Given the description of an element on the screen output the (x, y) to click on. 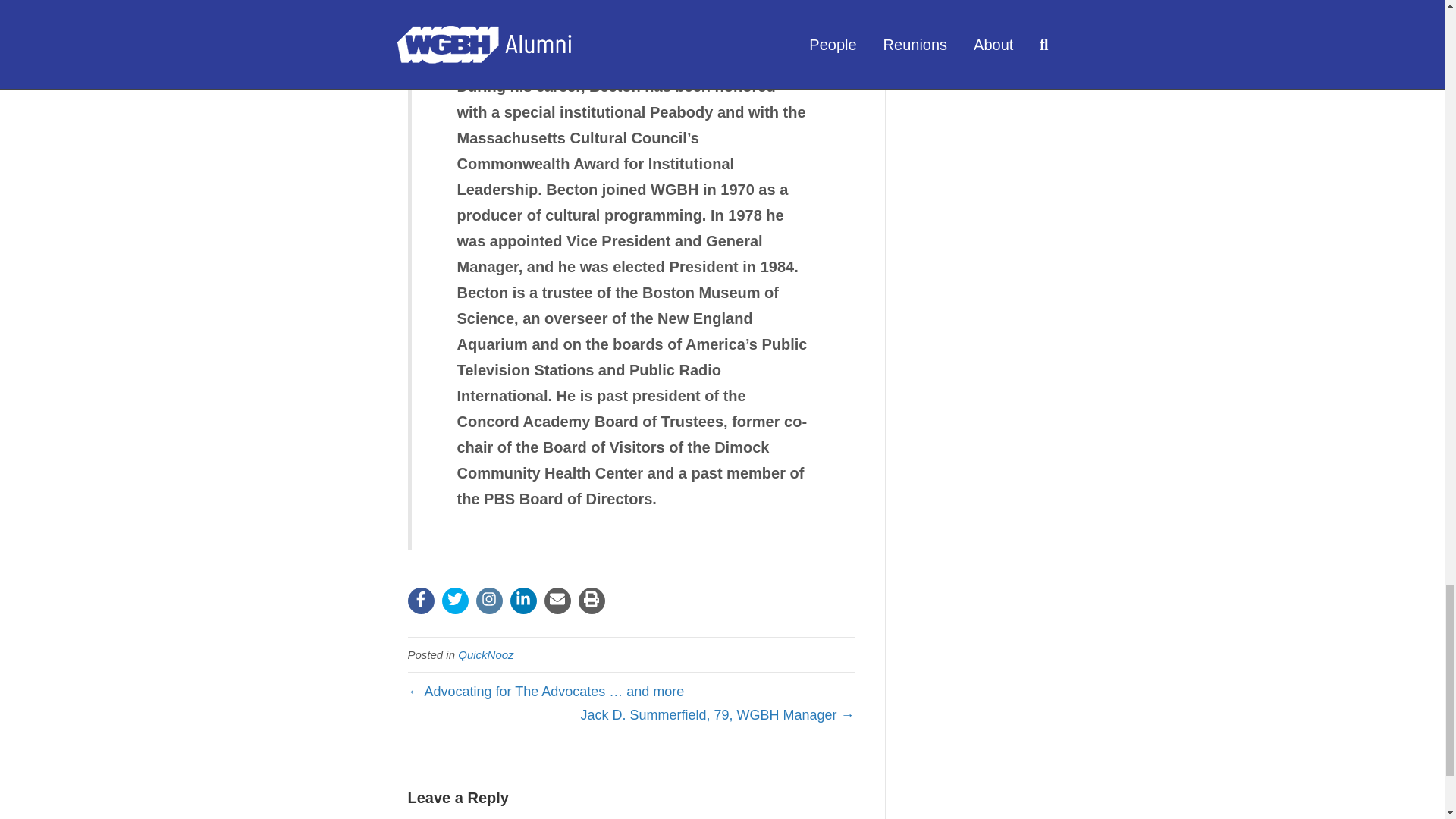
QuickNooz (485, 654)
